Given the description of an element on the screen output the (x, y) to click on. 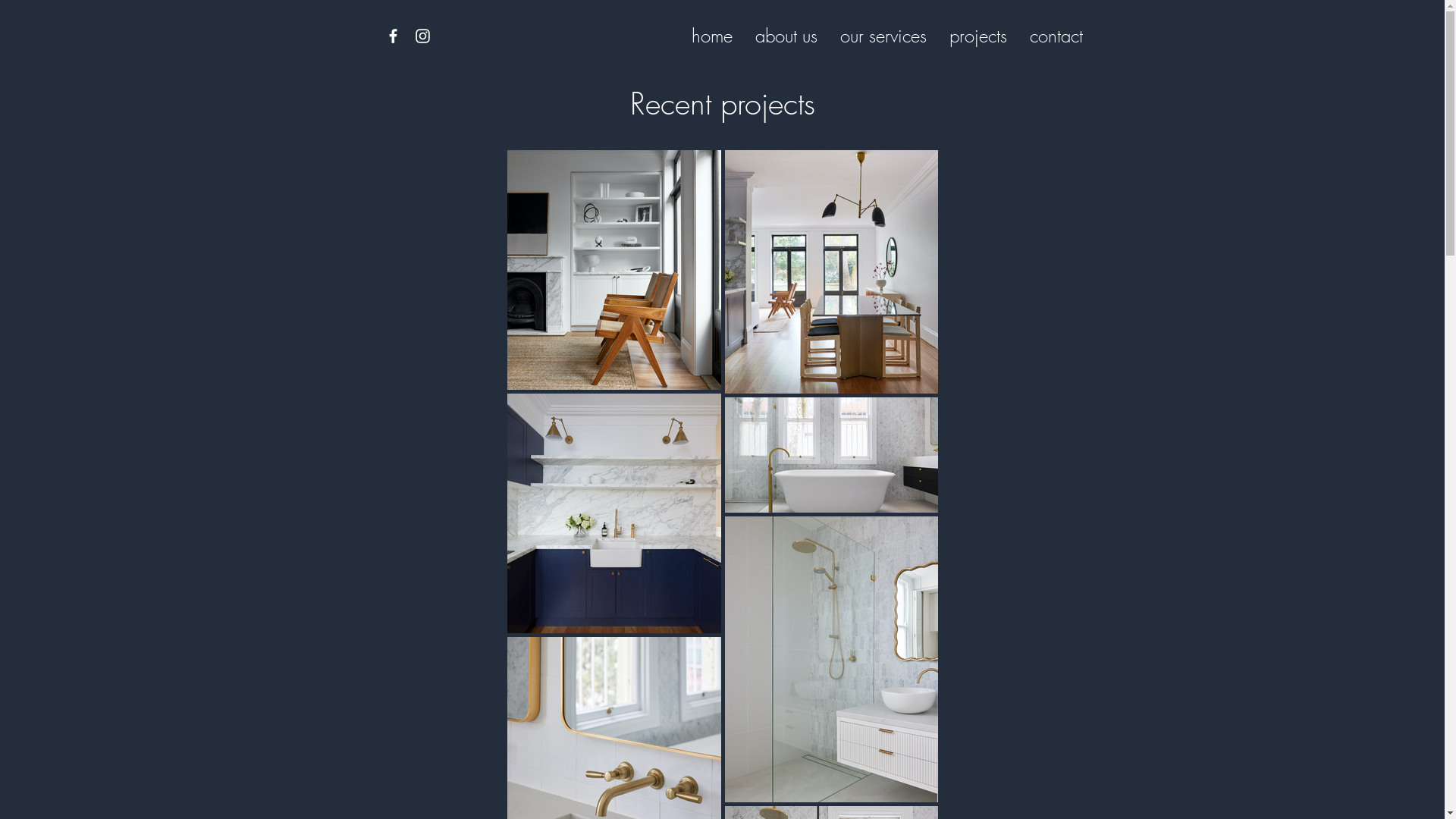
contact Element type: text (1055, 35)
home Element type: text (711, 35)
projects Element type: text (977, 35)
our services Element type: text (882, 35)
about us Element type: text (785, 35)
